Given the description of an element on the screen output the (x, y) to click on. 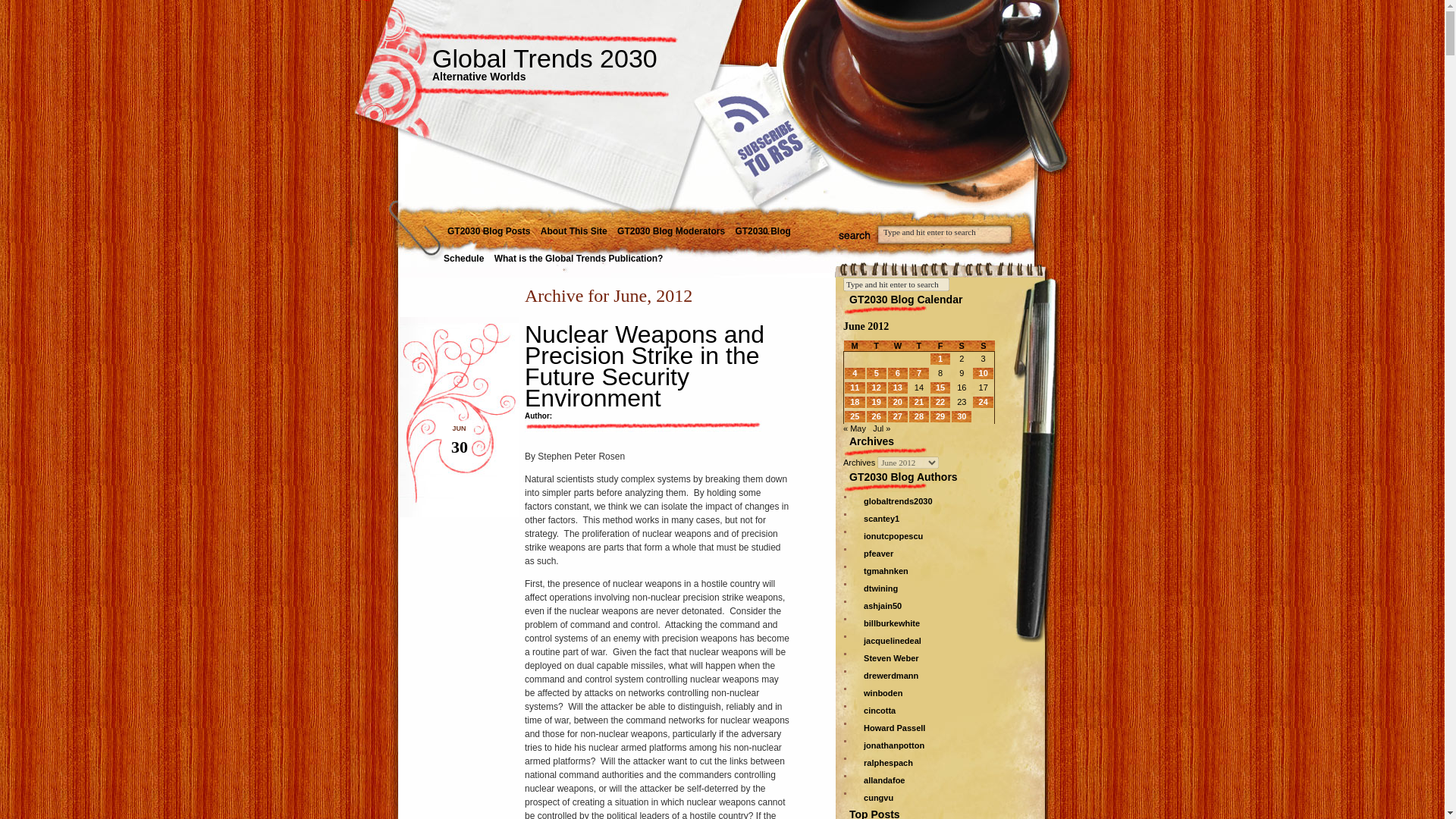
Wednesday (897, 346)
About This Site (574, 231)
GT2030 Blog Schedule (617, 245)
Global Trends 2030 (545, 58)
Tuesday (876, 346)
Type and hit enter to search (944, 231)
Type and hit enter to search (896, 284)
Monday (853, 346)
